Given the description of an element on the screen output the (x, y) to click on. 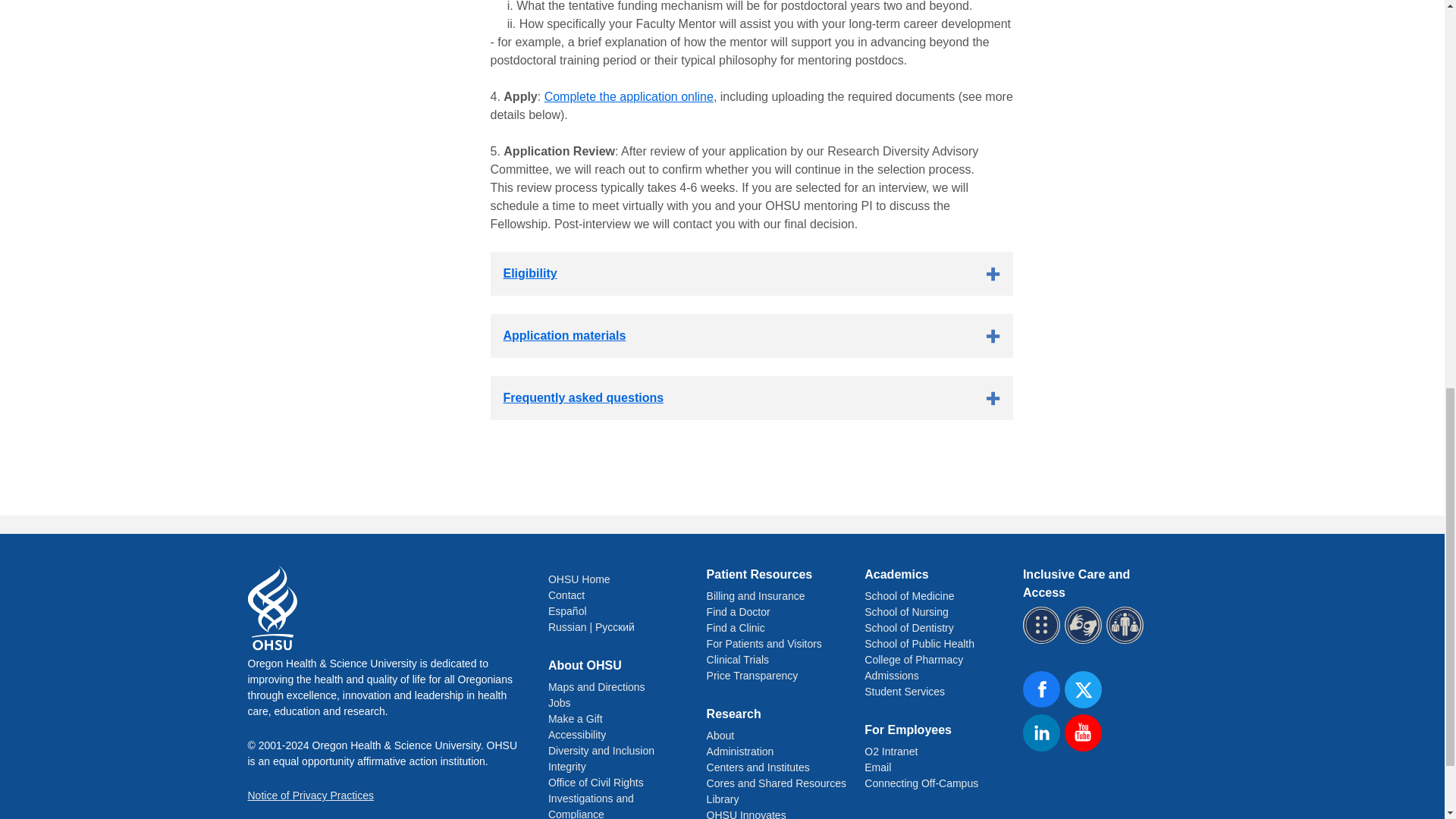
Eligibility (751, 273)
Complete the application online (628, 96)
